Given the description of an element on the screen output the (x, y) to click on. 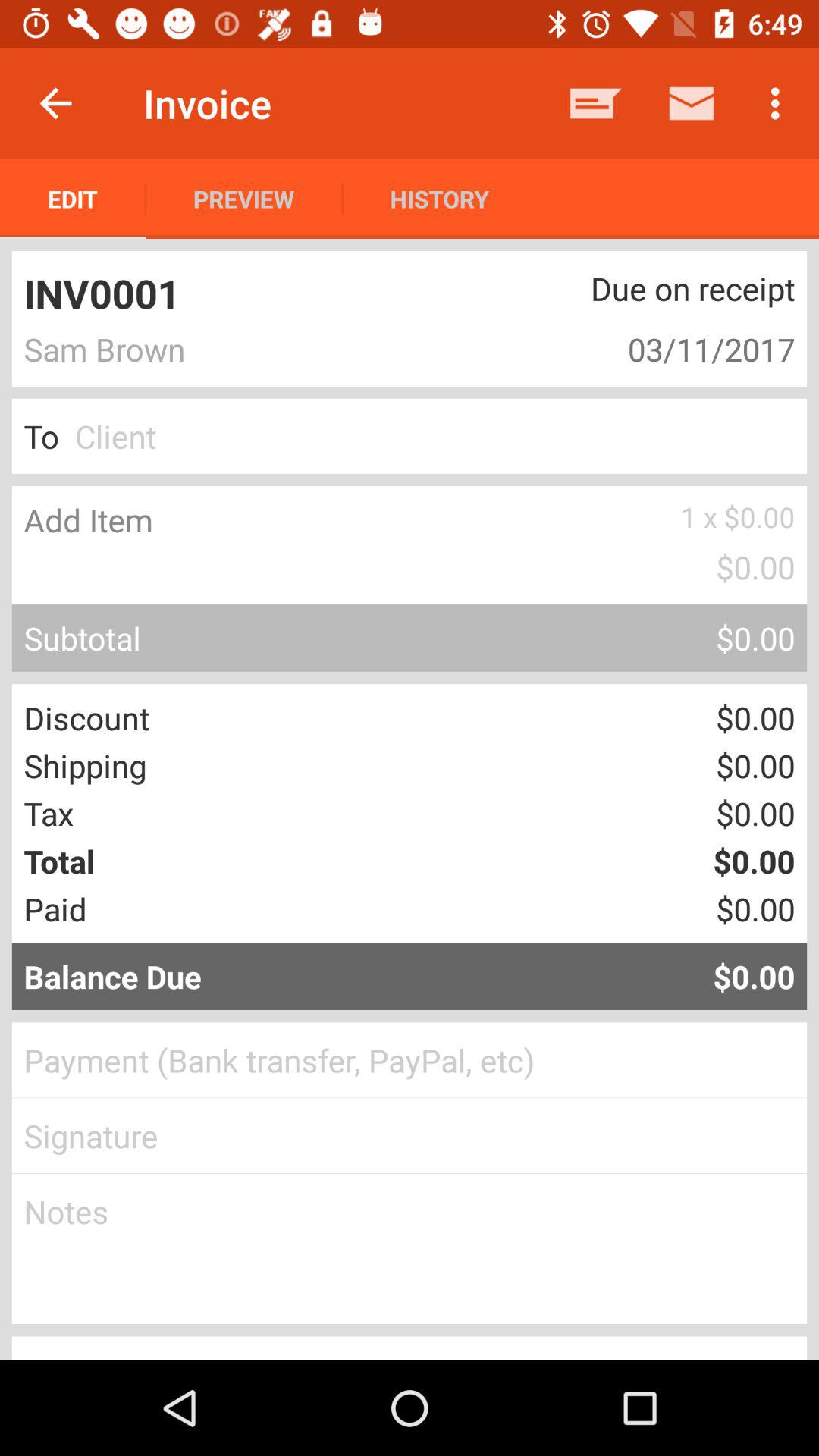
choose edit (72, 198)
